Given the description of an element on the screen output the (x, y) to click on. 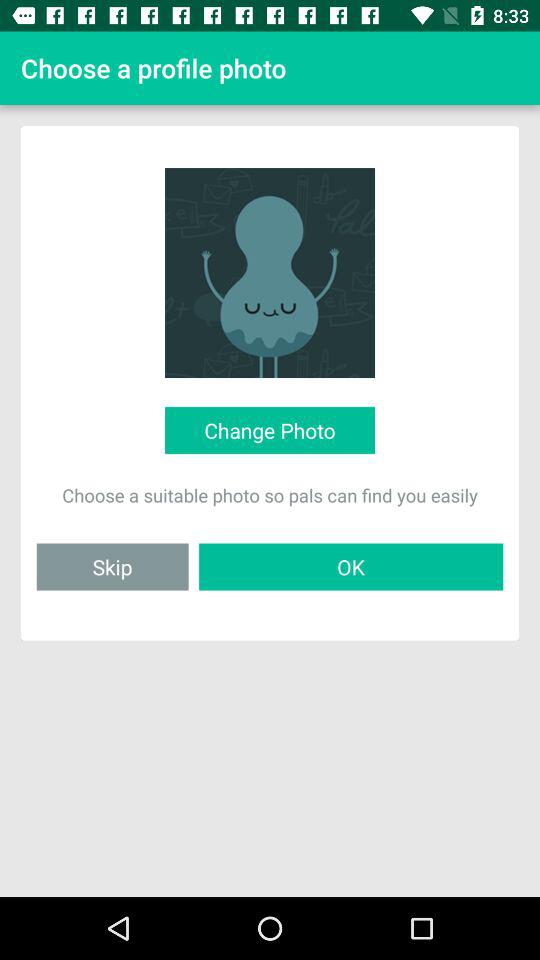
choose the icon to the left of ok item (112, 566)
